Given the description of an element on the screen output the (x, y) to click on. 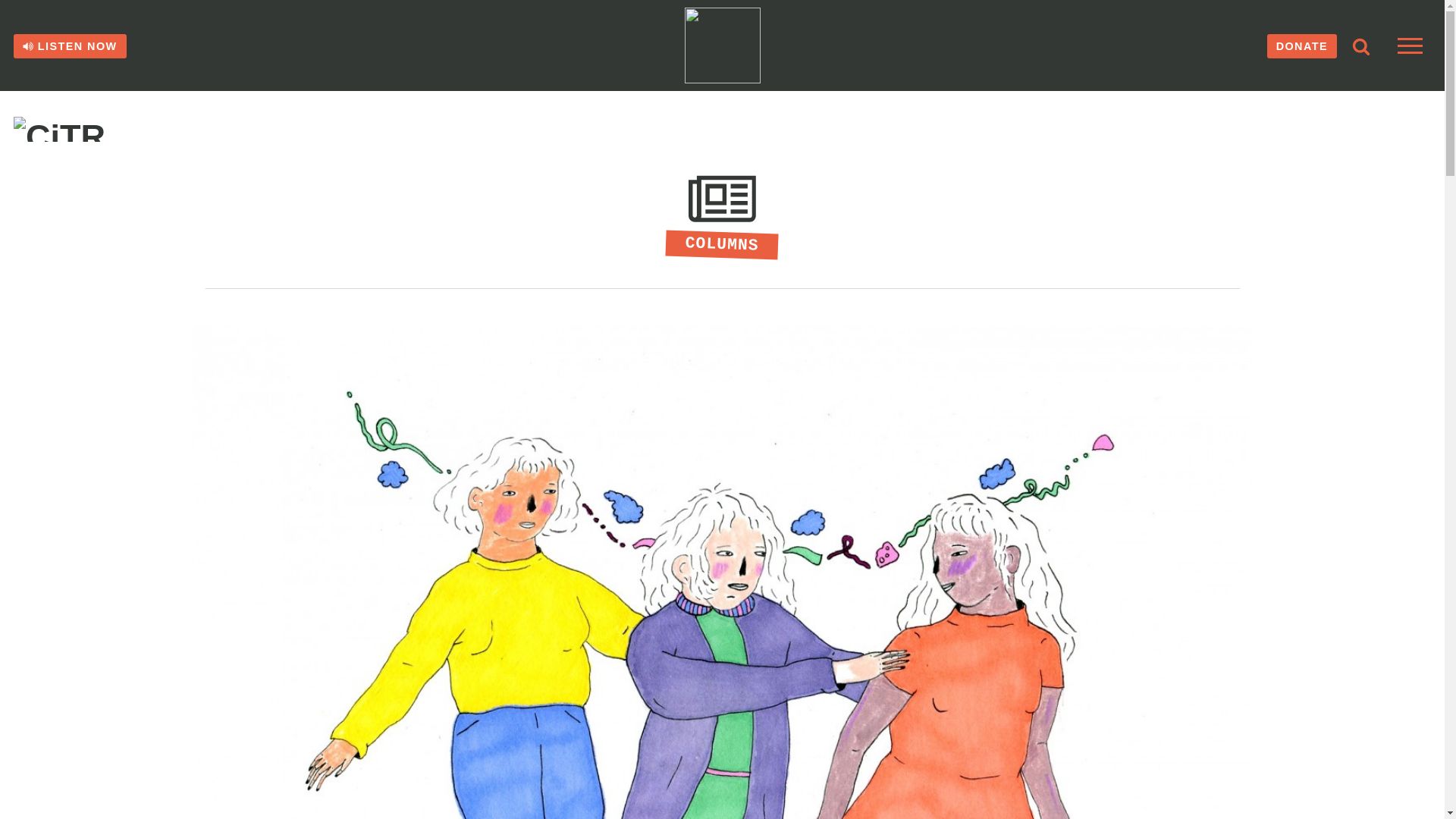
Discorder Magazine (81, 129)
LISTEN NOW (69, 46)
DONATE (1301, 46)
Toggle navigation (1410, 45)
